Given the description of an element on the screen output the (x, y) to click on. 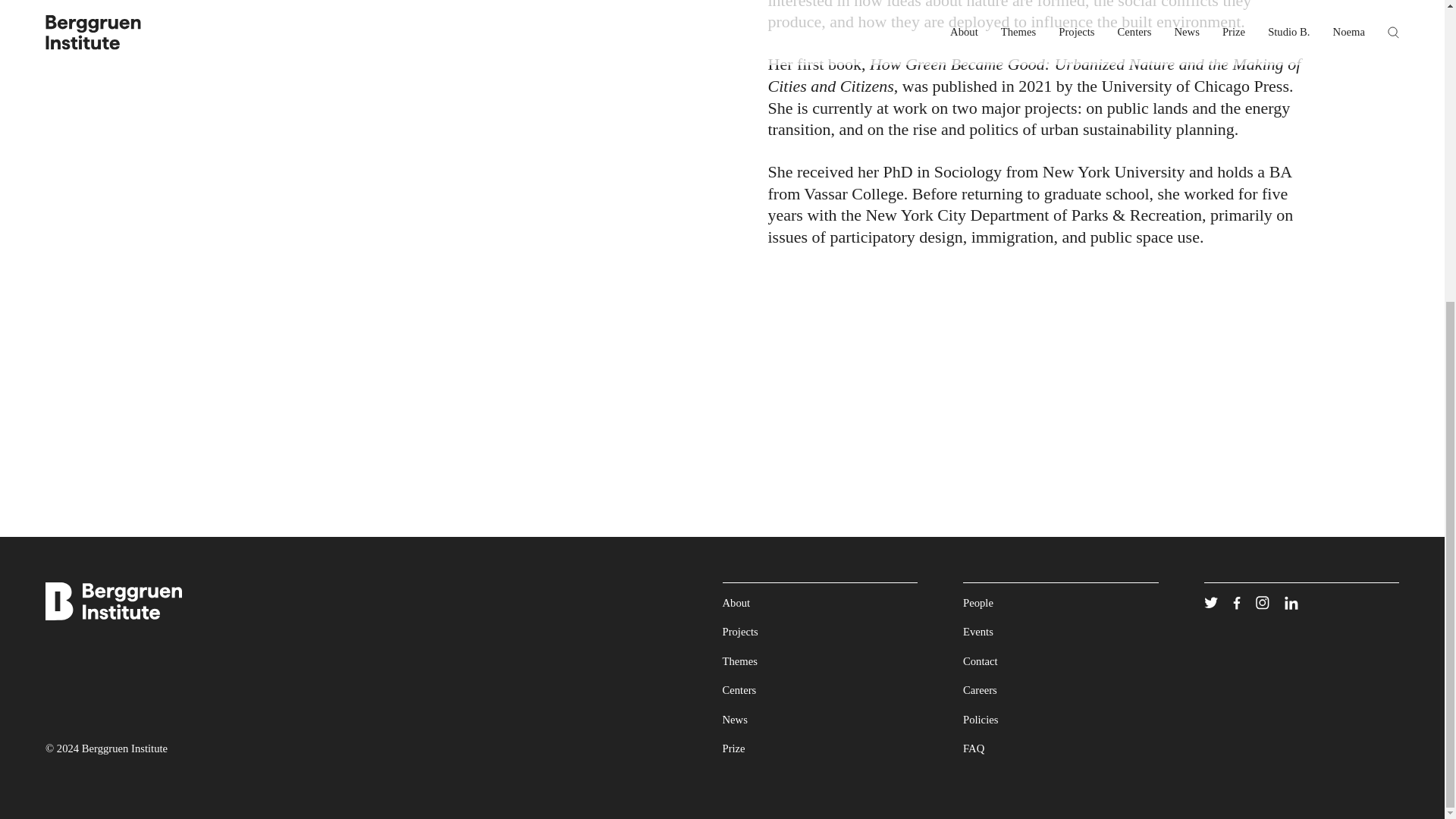
Themes (739, 661)
People (977, 603)
About (735, 603)
Policies (979, 719)
Projects (739, 631)
Contact (979, 661)
Prize (733, 748)
Events (977, 631)
Centers (738, 689)
FAQ (973, 748)
